Given the description of an element on the screen output the (x, y) to click on. 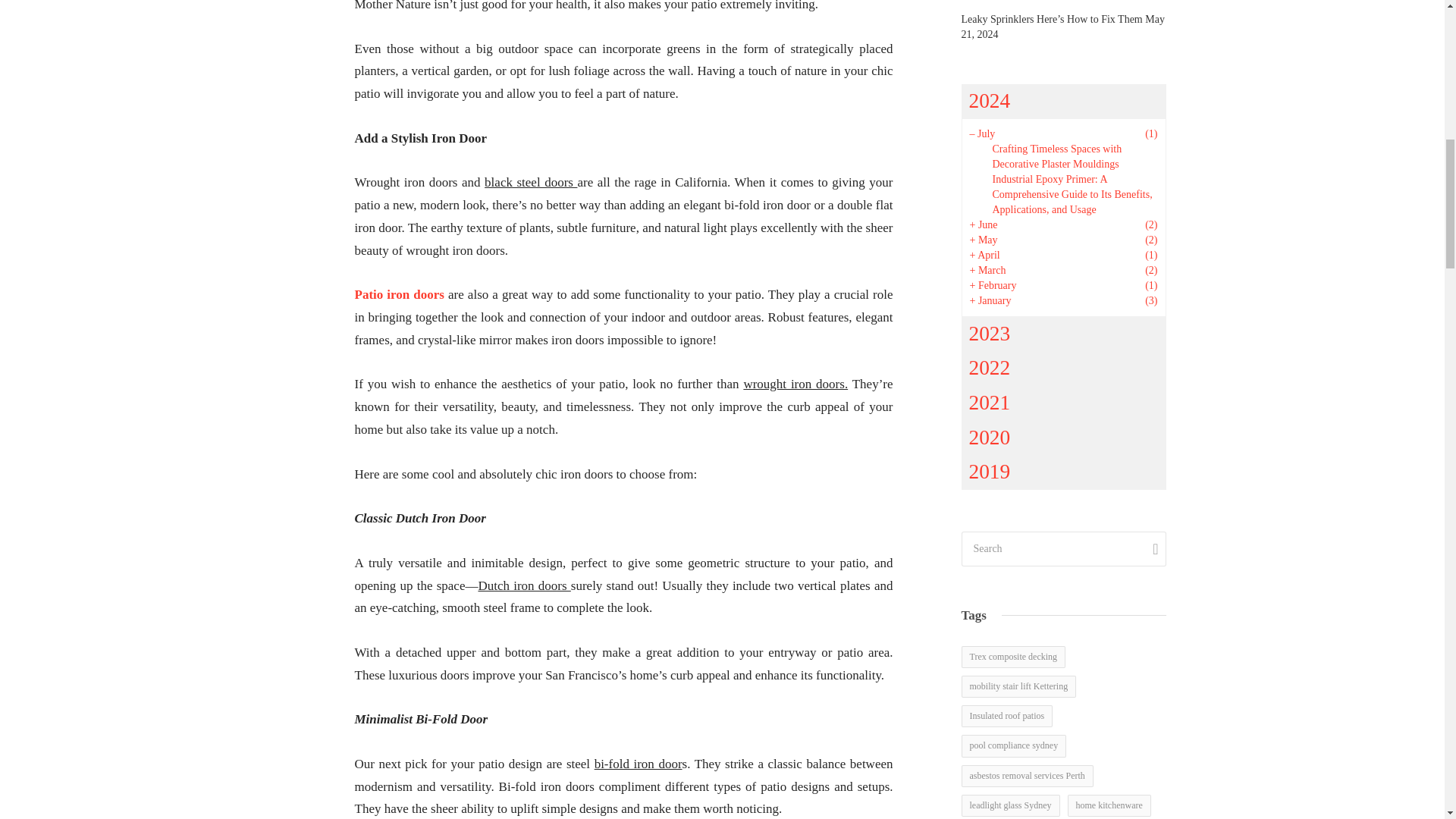
Patio iron doors (401, 294)
